Given the description of an element on the screen output the (x, y) to click on. 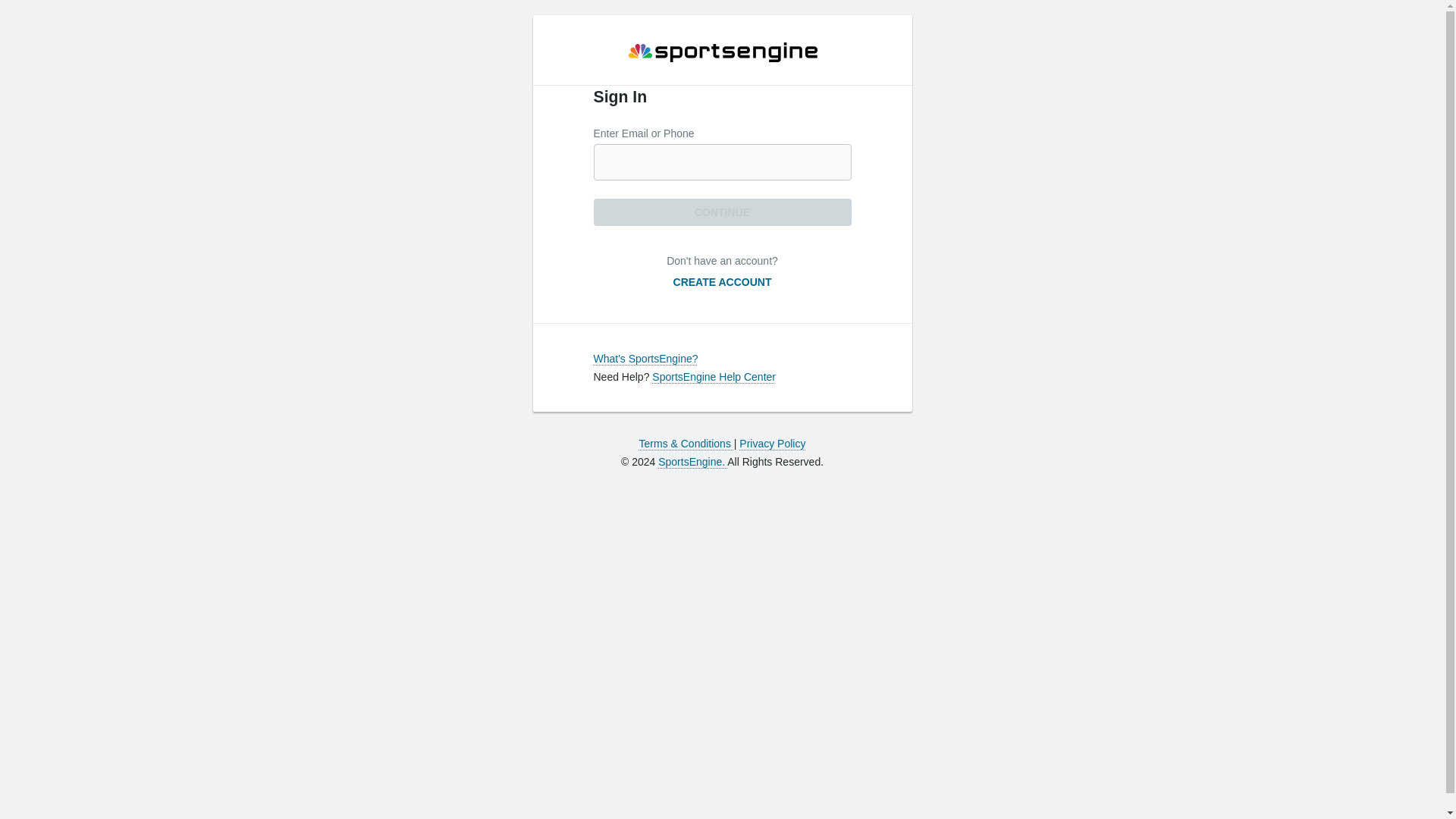
What's SportsEngine? (644, 358)
SportsEngine. (692, 461)
SportsEngine Help Center (714, 377)
CREATE ACCOUNT (722, 281)
Privacy Policy (772, 443)
Continue (721, 212)
Continue (721, 212)
